Given the description of an element on the screen output the (x, y) to click on. 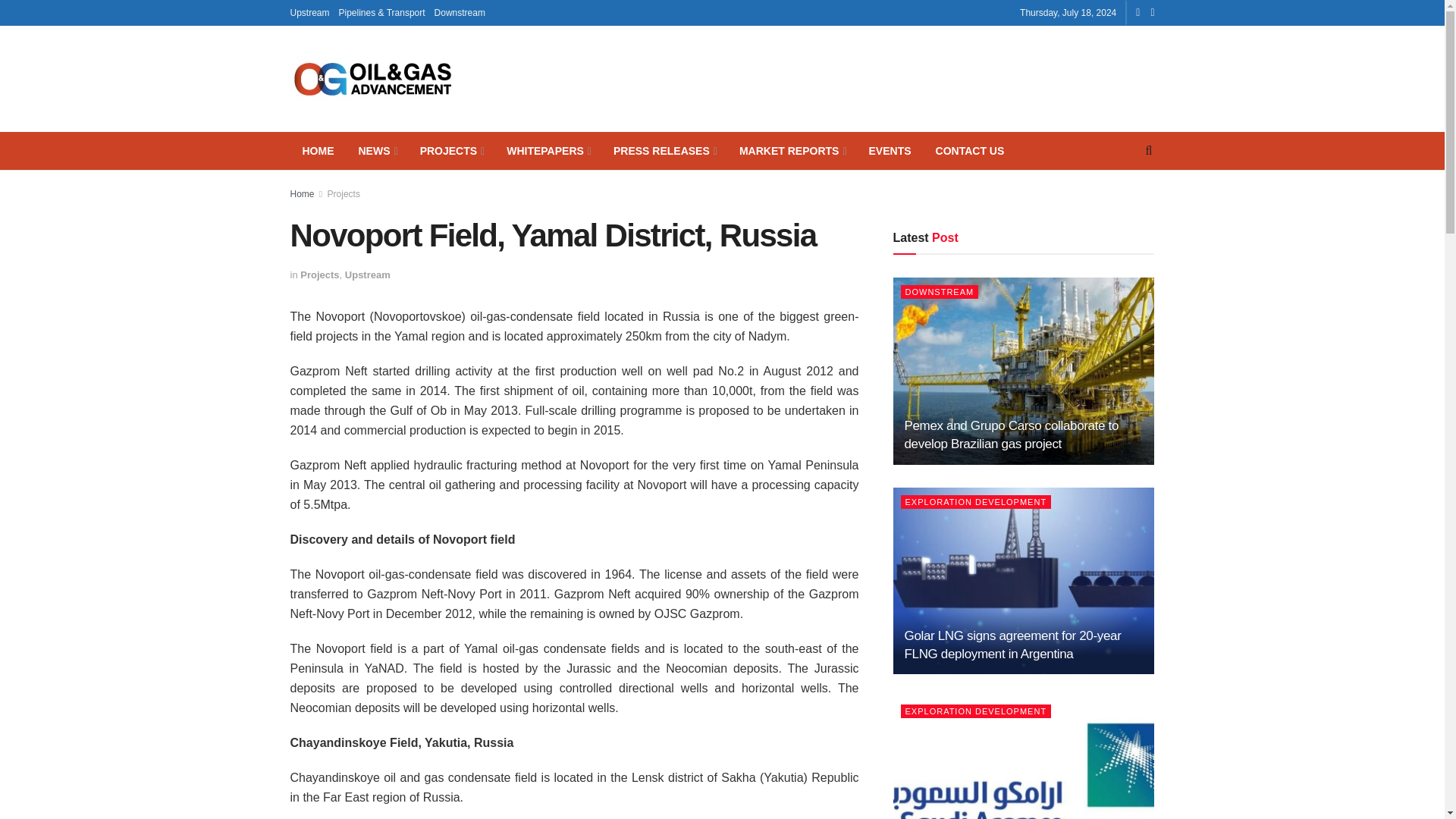
Upstream (309, 12)
PROJECTS (451, 150)
Downstream (458, 12)
NEWS (376, 150)
HOME (317, 150)
